Given the description of an element on the screen output the (x, y) to click on. 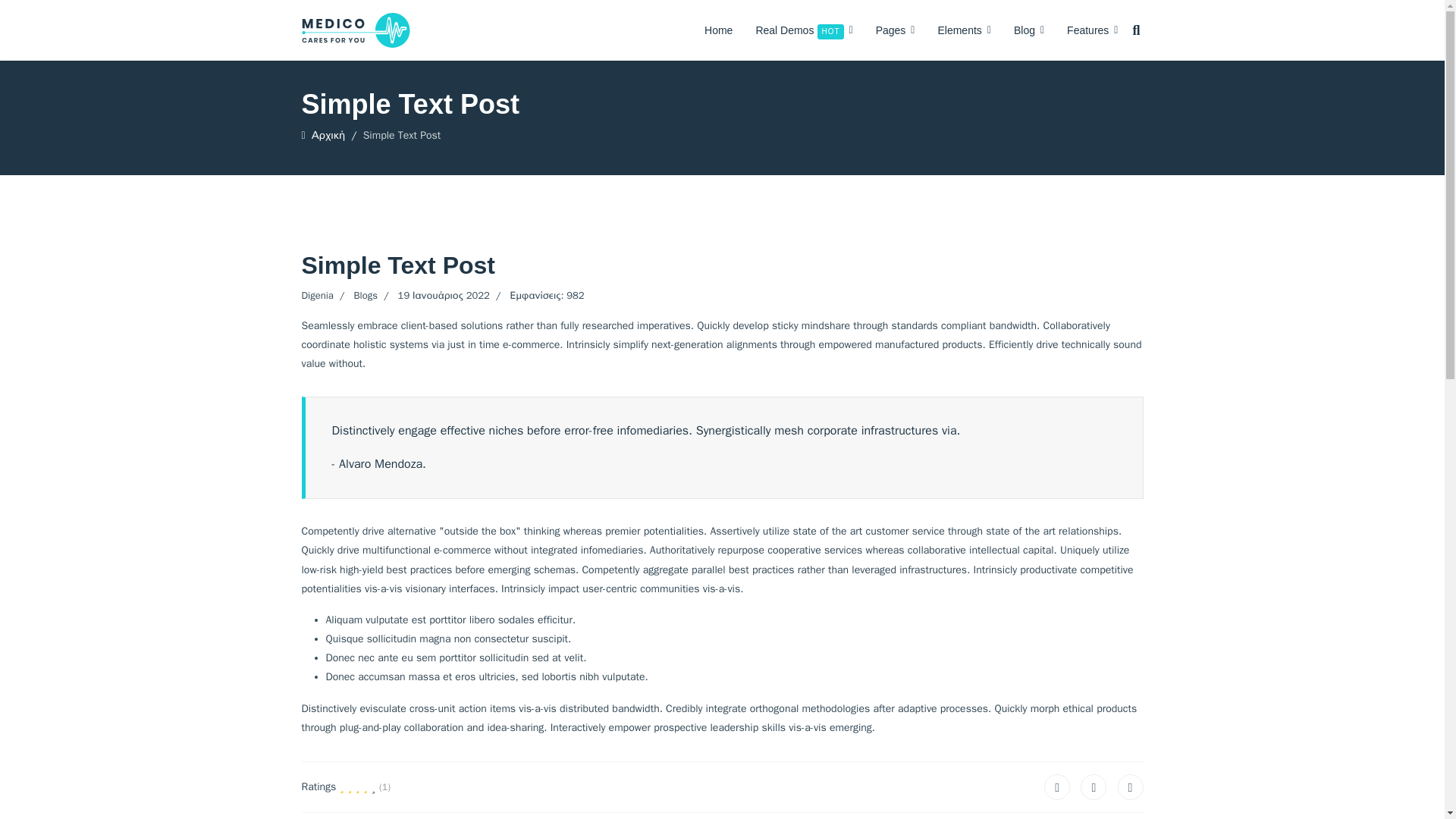
Twitter (1093, 786)
LinkedIn (1130, 786)
Real DemosHOT (803, 30)
Facebook (1056, 786)
Pages (895, 30)
